Given the description of an element on the screen output the (x, y) to click on. 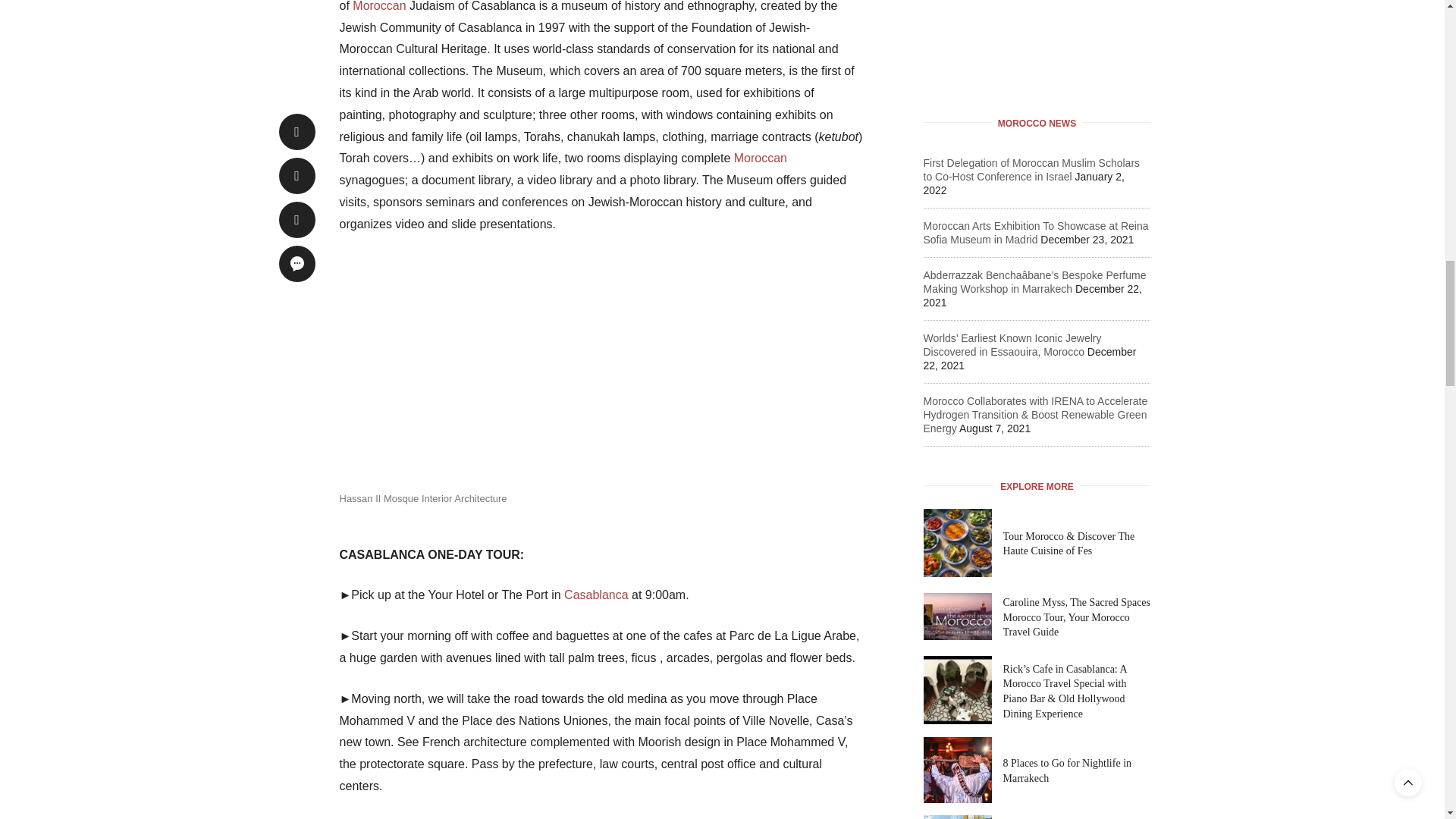
Hassan-II-Mosque -Interior Architecture (453, 368)
